Given the description of an element on the screen output the (x, y) to click on. 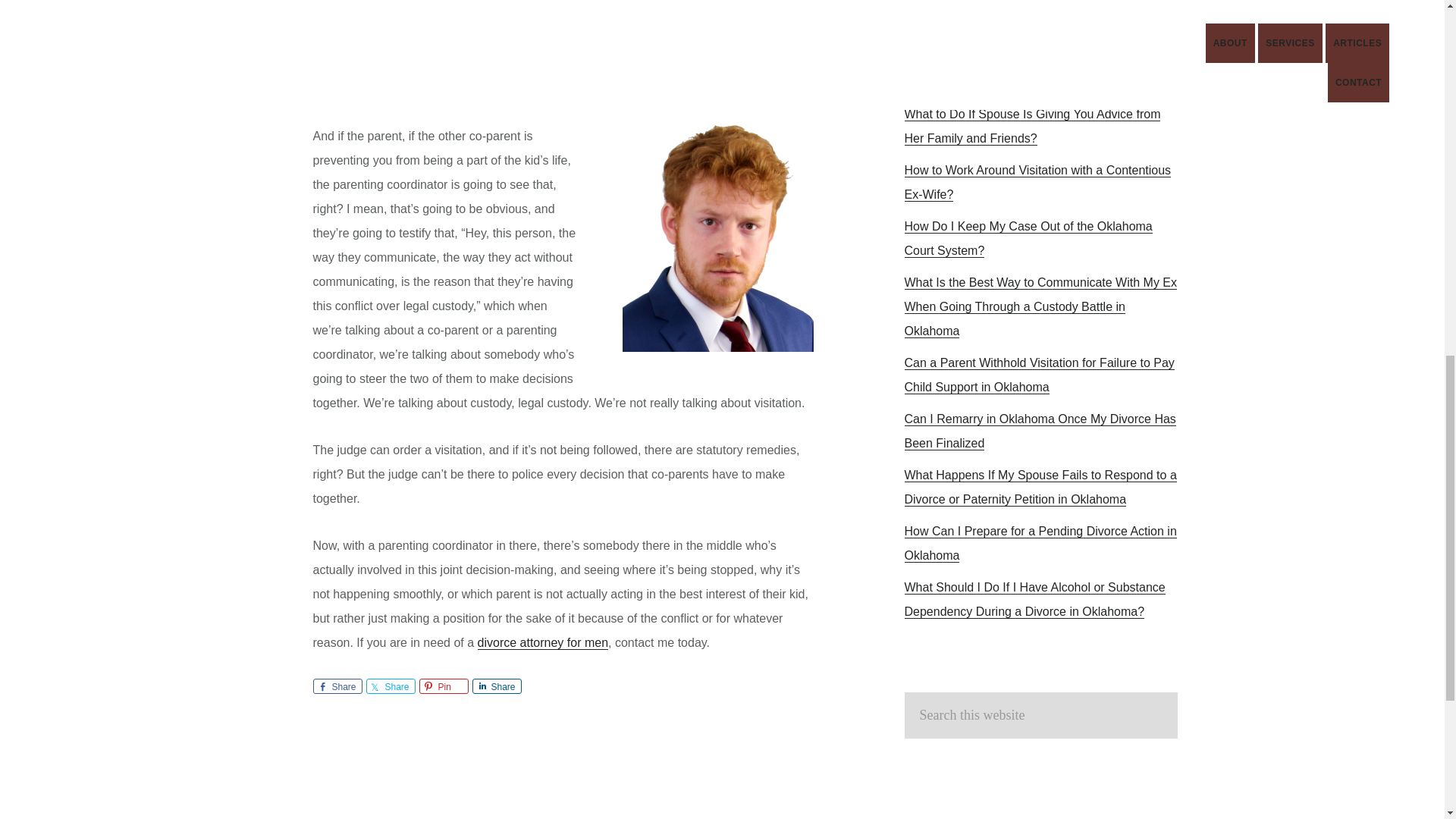
divorce attorney for men (542, 643)
Pin (443, 685)
Share (389, 685)
Share (496, 685)
Share (337, 685)
